Given the description of an element on the screen output the (x, y) to click on. 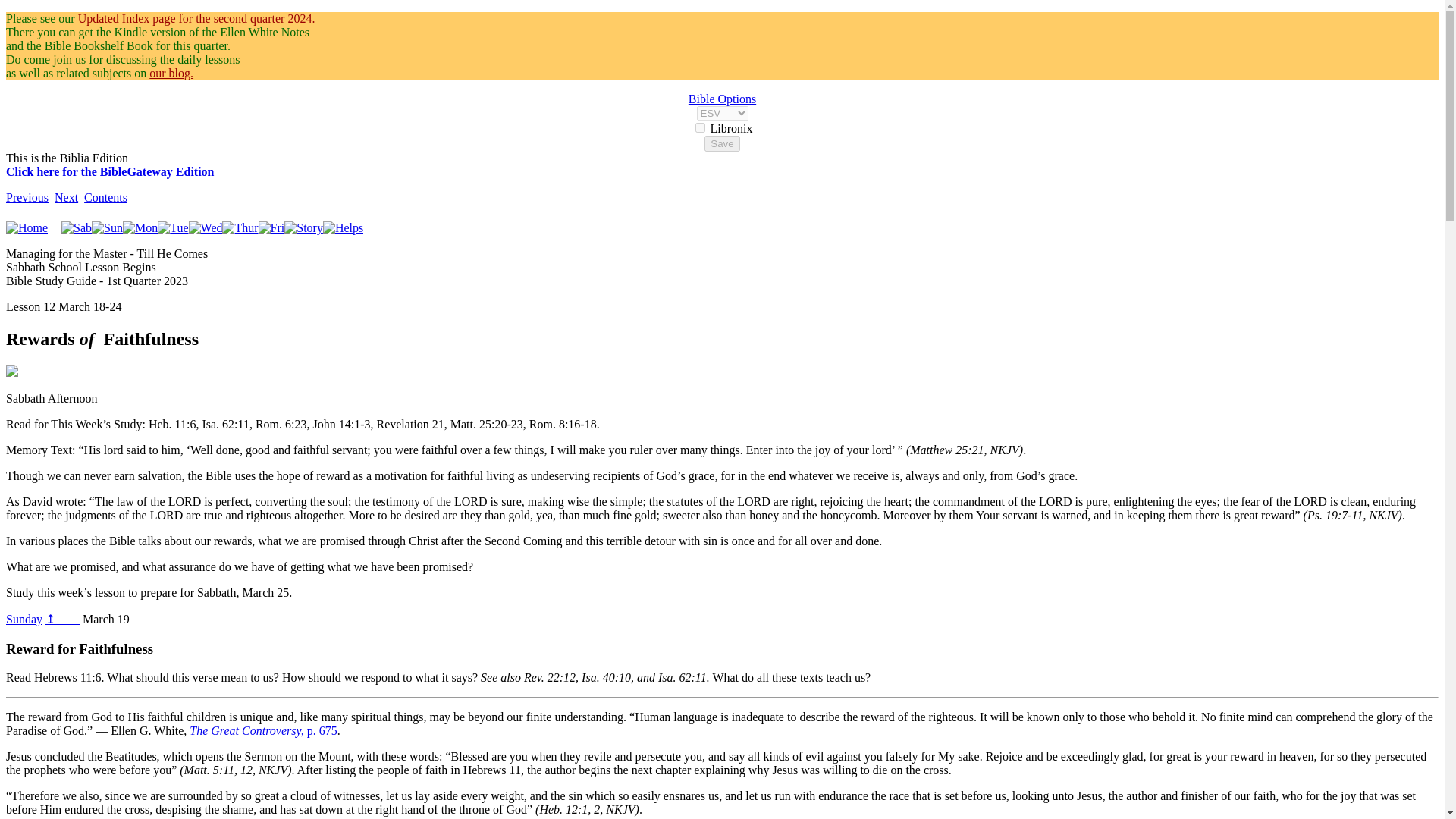
Updated Index page for the second quarter 2024. (196, 18)
our blog. (171, 72)
Contents (106, 196)
on (699, 127)
The Great Controversy, p. 675 (262, 730)
Save (721, 143)
Go to top of the page (62, 618)
Previous (26, 196)
Click here for the BibleGateway Edition (109, 171)
Sunday (23, 618)
Next (66, 196)
Bible Options (721, 98)
Align Upwards (23, 618)
